Given the description of an element on the screen output the (x, y) to click on. 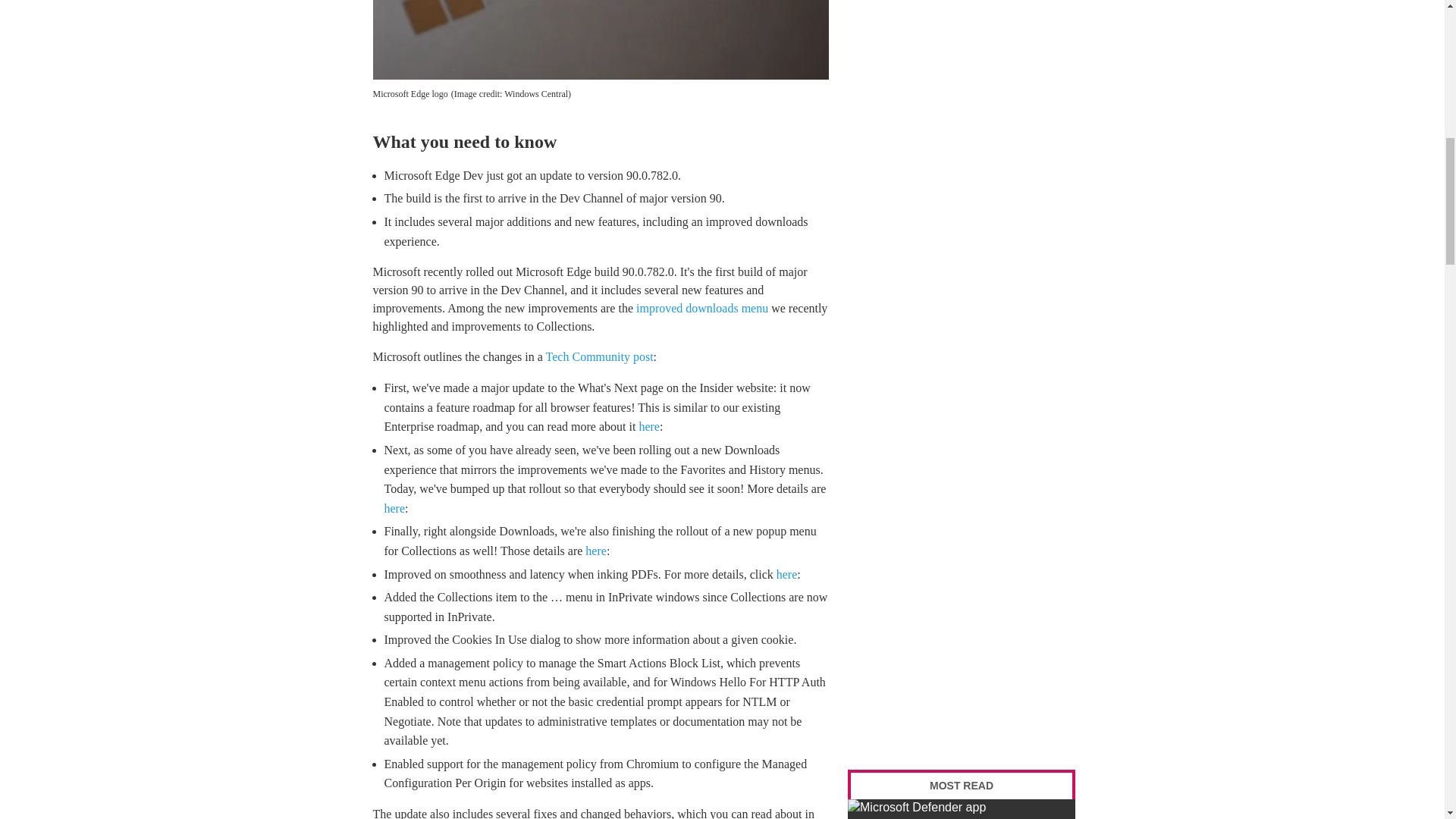
here (394, 508)
here (786, 574)
here (596, 550)
here (649, 426)
improved downloads menu (702, 308)
Tech Community post (599, 356)
